Given the description of an element on the screen output the (x, y) to click on. 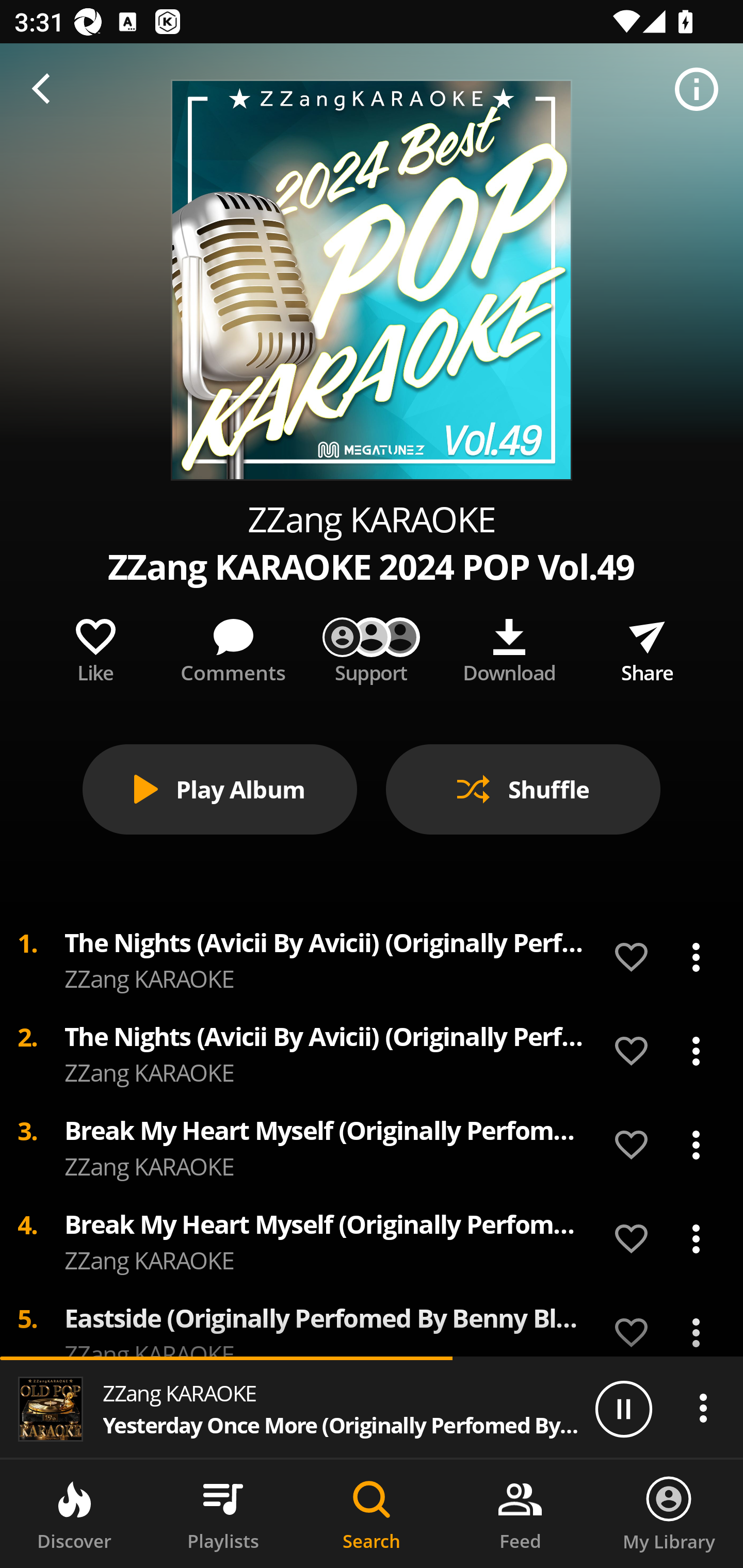
Music info (696, 89)
Close (46, 100)
Like (95, 647)
Comment Comments Comment (233, 647)
Support (371, 647)
Download (509, 647)
Share (647, 647)
Play Album (219, 789)
Shuffle (522, 789)
Actions (695, 957)
Actions (695, 1051)
Actions (695, 1145)
Actions (695, 1238)
Actions (695, 1327)
Actions (703, 1407)
Play/Pause (623, 1408)
Discover (74, 1513)
Playlists (222, 1513)
Search (371, 1513)
Feed (519, 1513)
My Library (668, 1513)
